Given the description of an element on the screen output the (x, y) to click on. 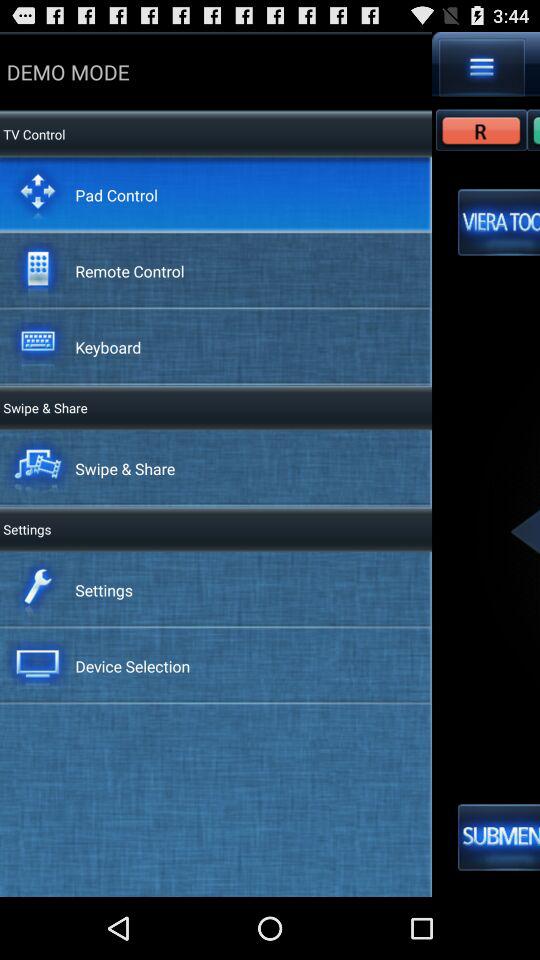
flip until the device selection app (132, 665)
